Given the description of an element on the screen output the (x, y) to click on. 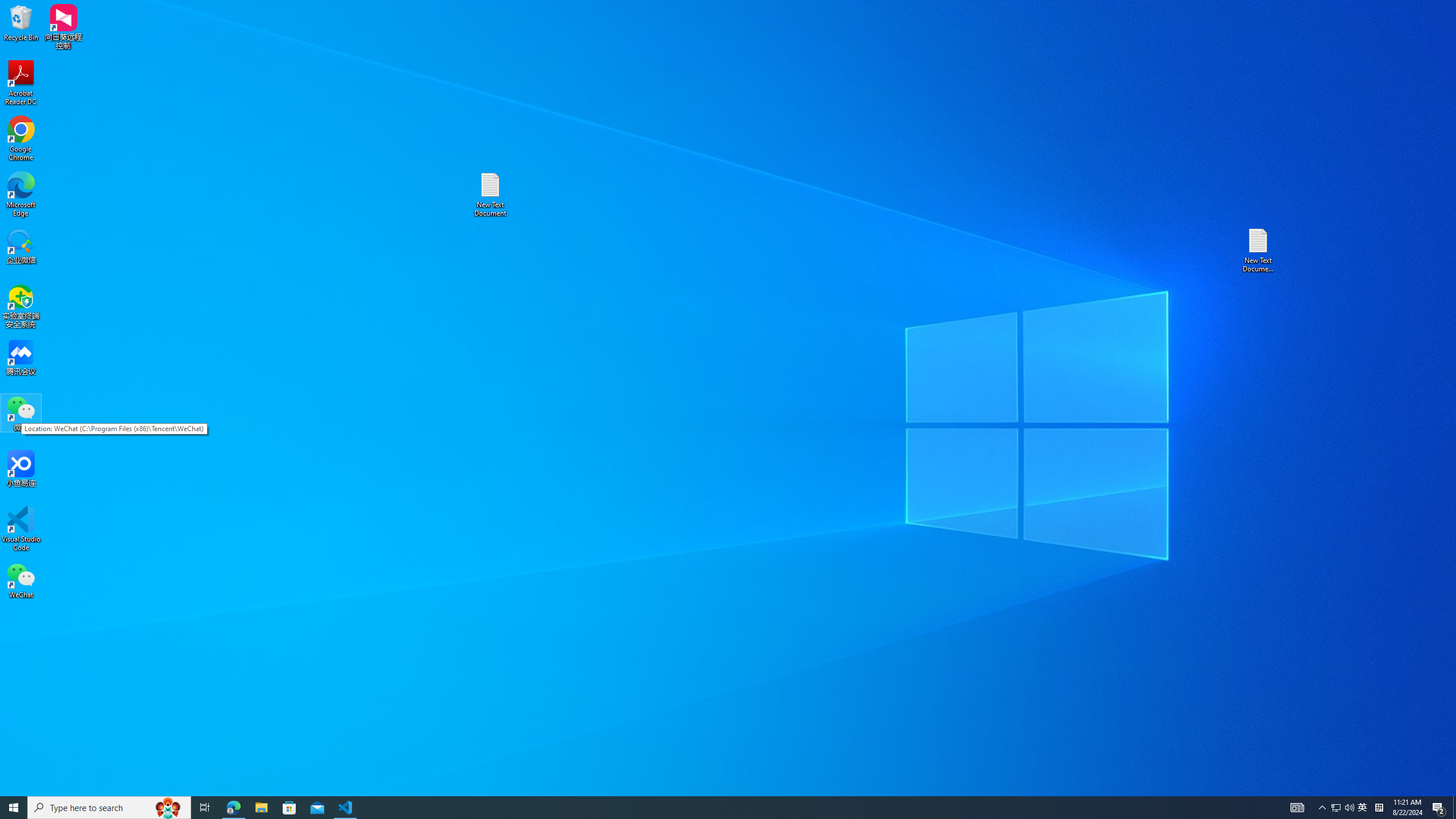
Microsoft Edge (21, 194)
Visual Studio Code (21, 528)
New Text Document (2) (1362, 807)
